Given the description of an element on the screen output the (x, y) to click on. 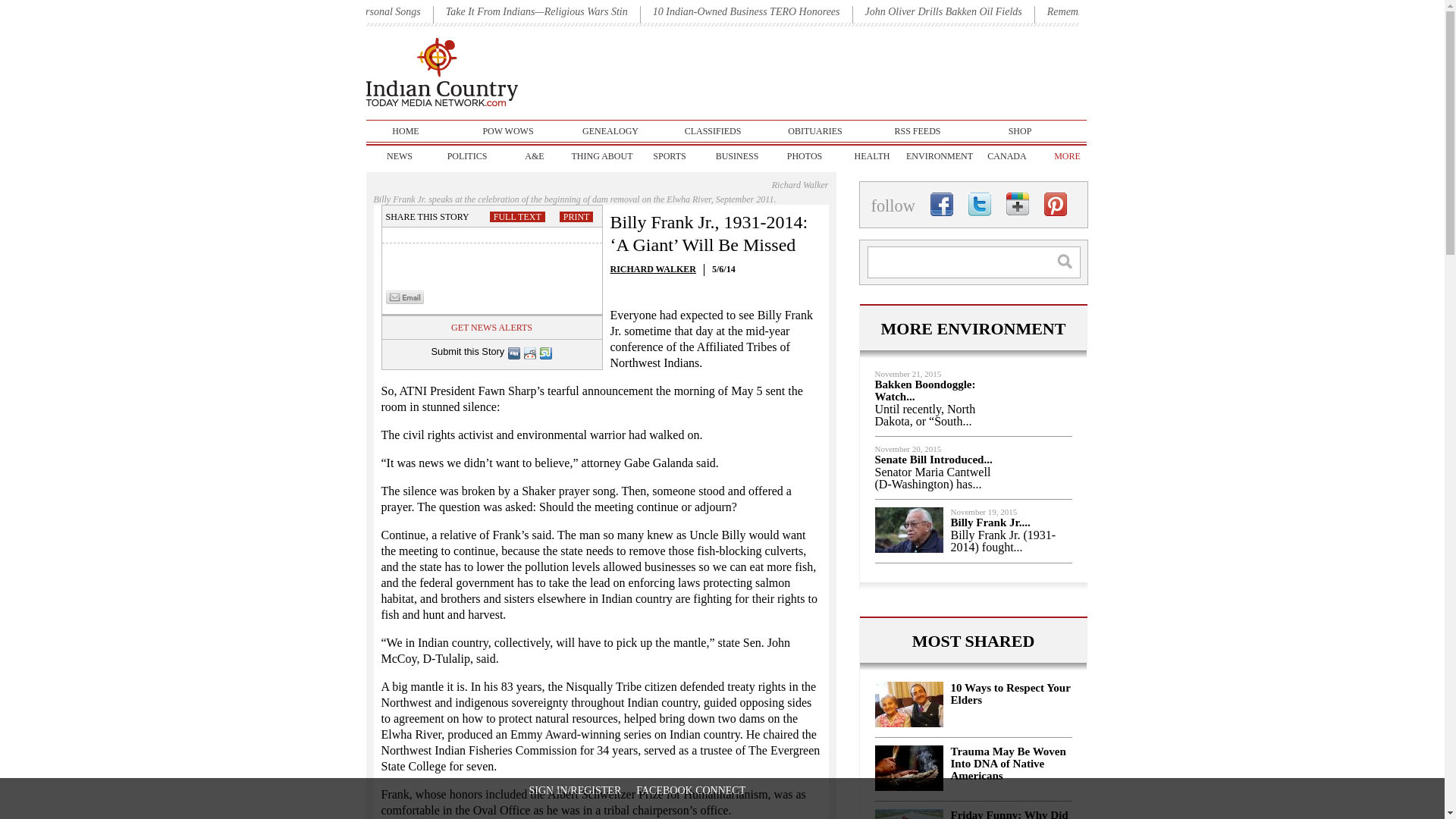
HEALTH (871, 156)
OBITUARIES (814, 130)
THING ABOUT SKINS (602, 156)
SPORTS (668, 156)
10 Indian-Owned Business TERO Honorees (746, 11)
BUSINESS (737, 156)
John Oliver Drills Bakken Oil Fields (943, 11)
Login Using Facebok (690, 790)
Billy Frank Jr. (909, 529)
